Given the description of an element on the screen output the (x, y) to click on. 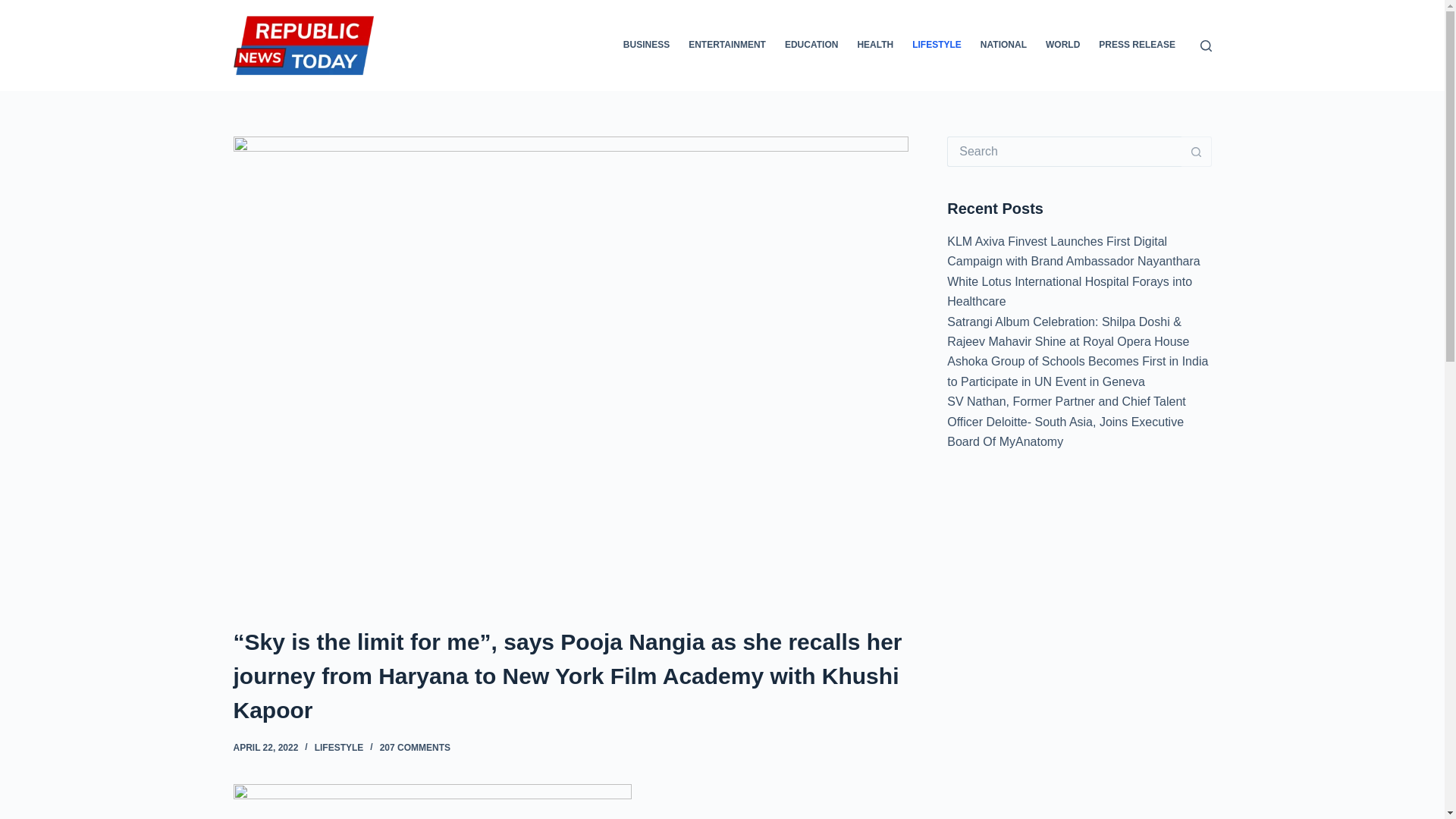
Search for... (1063, 151)
PRESS RELEASE (1137, 45)
ENTERTAINMENT (727, 45)
White Lotus International Hospital Forays into Healthcare (1069, 291)
207 COMMENTS (414, 747)
Skip to content (15, 7)
LIFESTYLE (339, 747)
